Given the description of an element on the screen output the (x, y) to click on. 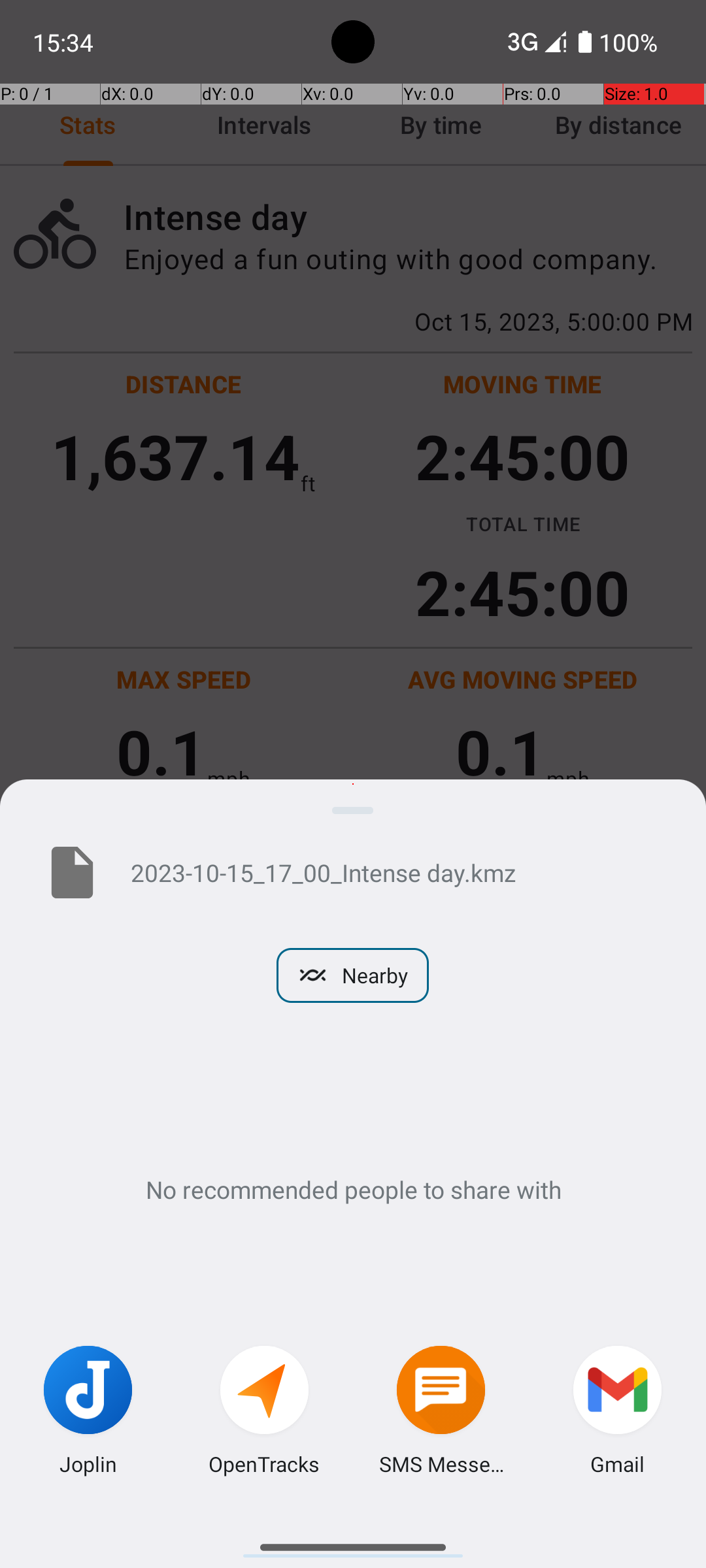
2023-10-15_17_00_Intense day.kmz Element type: android.widget.TextView (397, 872)
Joplin Element type: android.widget.TextView (88, 1463)
OpenTracks Element type: android.widget.TextView (264, 1463)
